Given the description of an element on the screen output the (x, y) to click on. 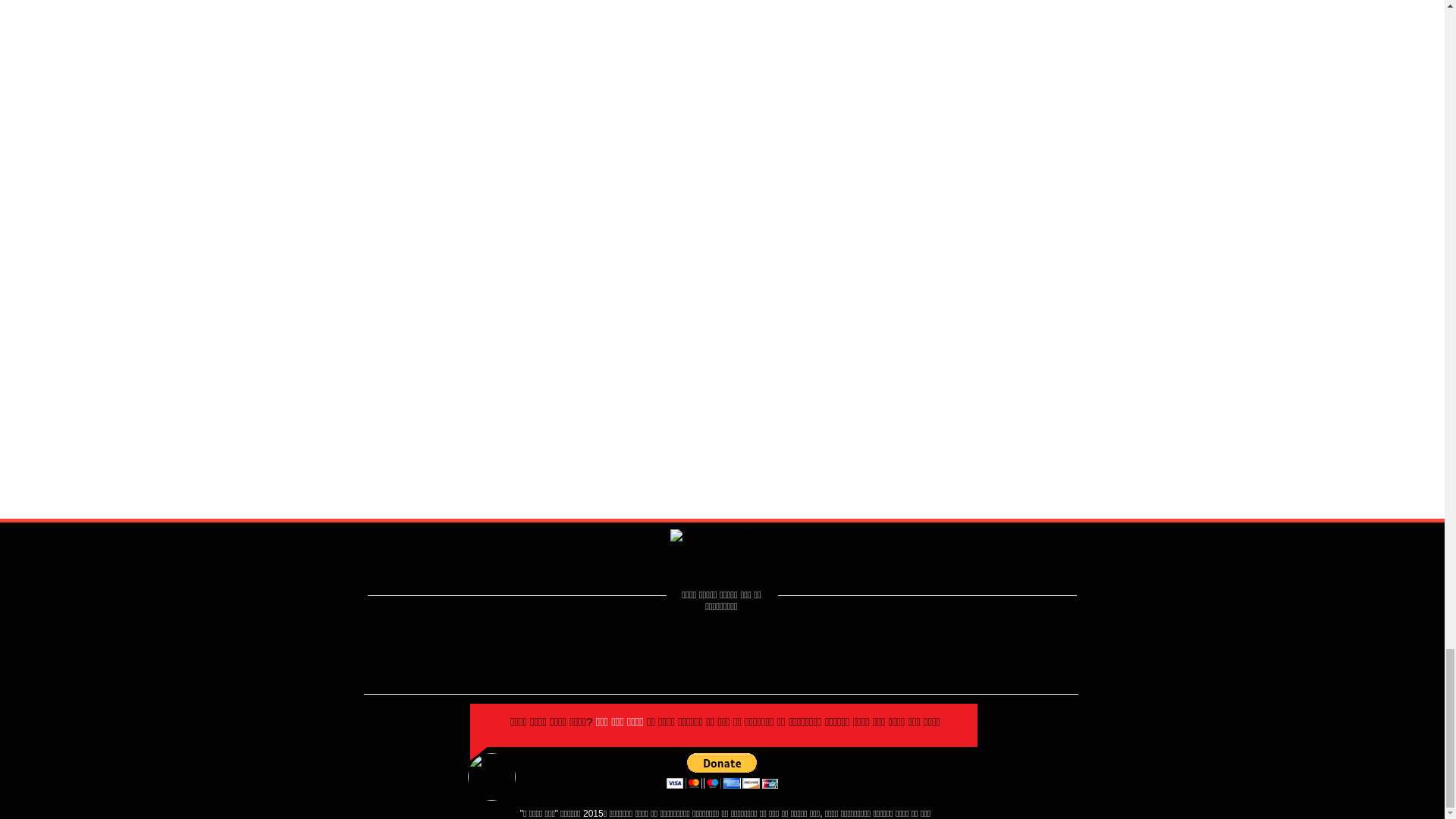
Soccer Player (491, 776)
